Given the description of an element on the screen output the (x, y) to click on. 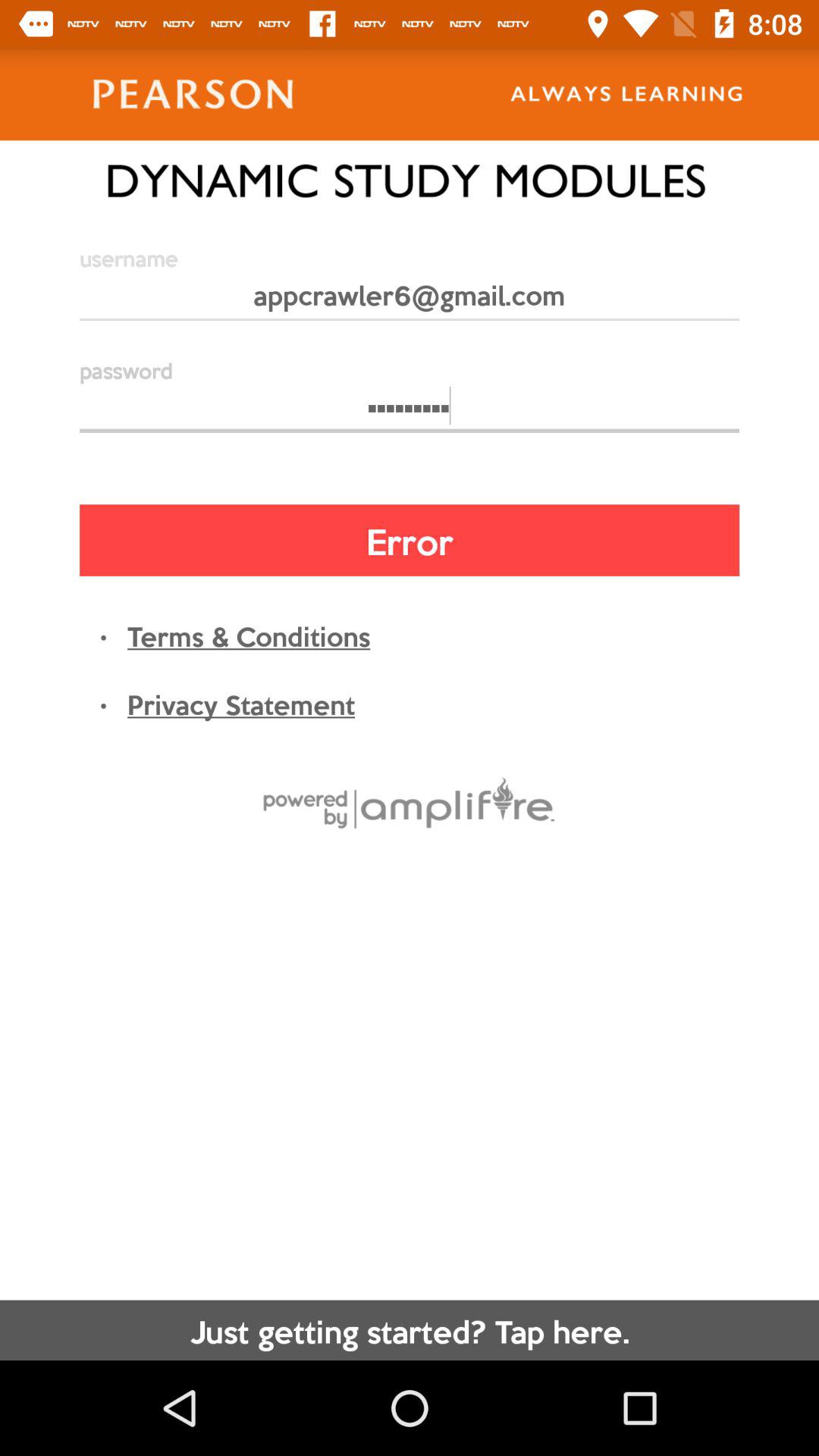
swipe until the error item (409, 540)
